Given the description of an element on the screen output the (x, y) to click on. 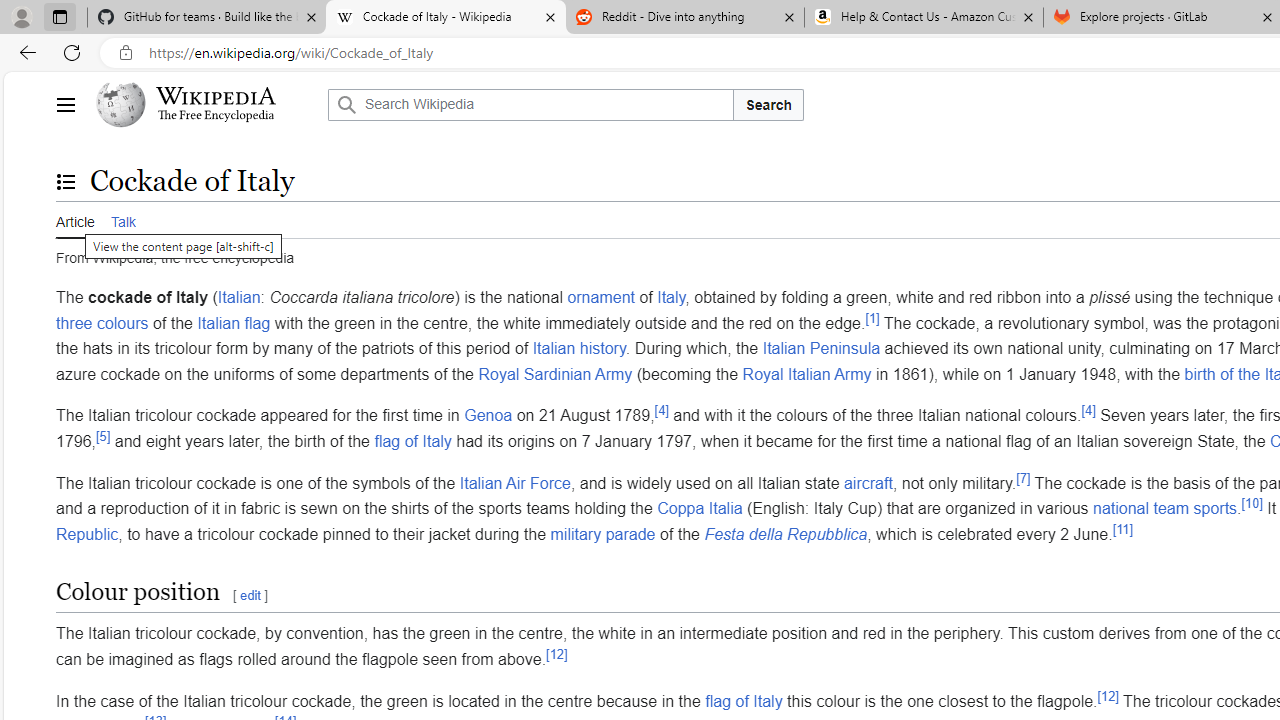
Genoa (488, 415)
Main menu (65, 104)
Italy (671, 297)
Toggle the table of contents (65, 181)
national team sports (1165, 508)
Royal Italian Army (806, 374)
Italian flag (234, 322)
Italian Peninsula (820, 348)
Cockade of Italy - Wikipedia (445, 17)
Wikipedia The Free Encyclopedia (206, 104)
